Given the description of an element on the screen output the (x, y) to click on. 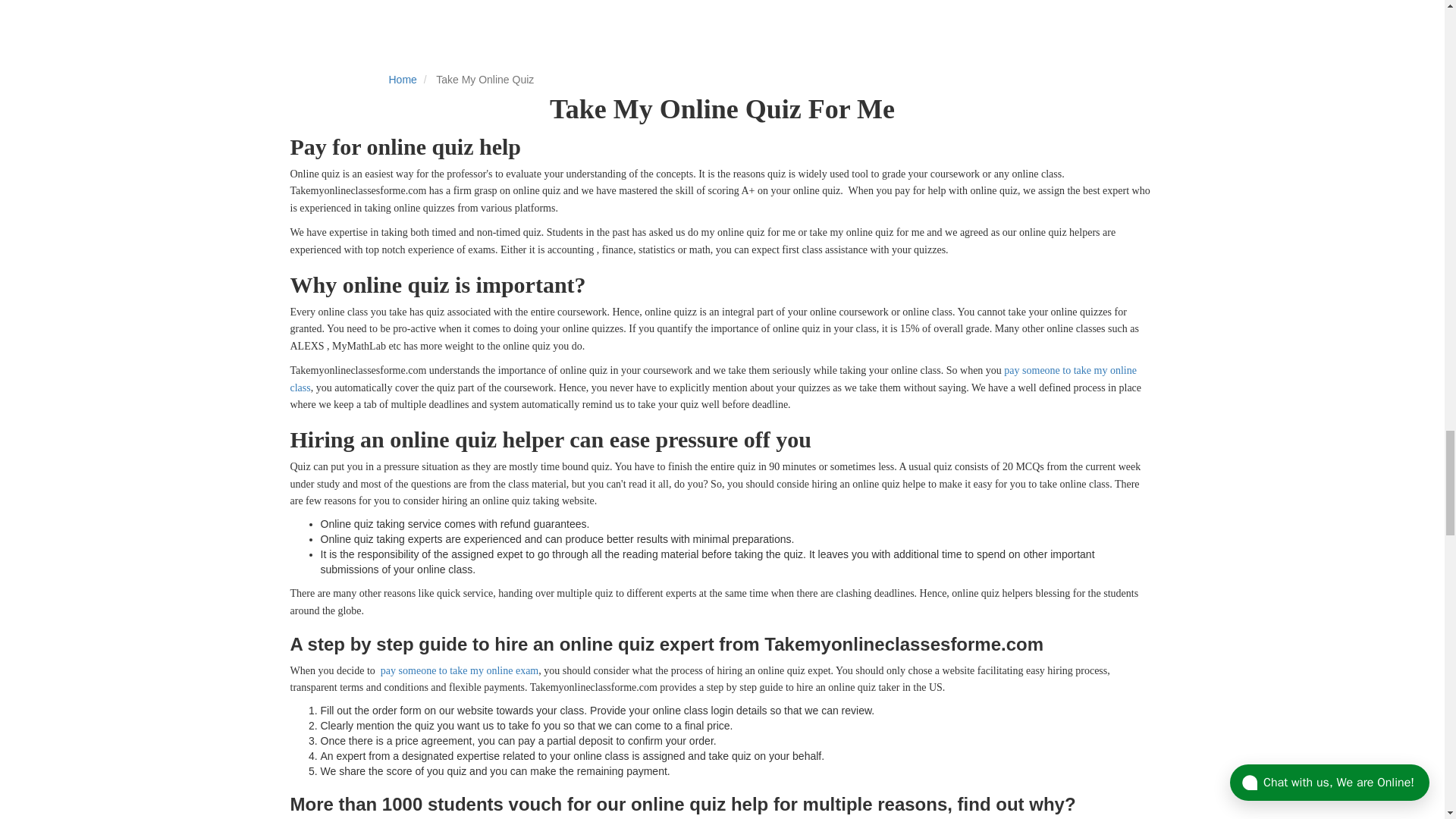
pay someone to take my online class (712, 378)
pay someone to take my online exam (459, 670)
Home (402, 79)
